Given the description of an element on the screen output the (x, y) to click on. 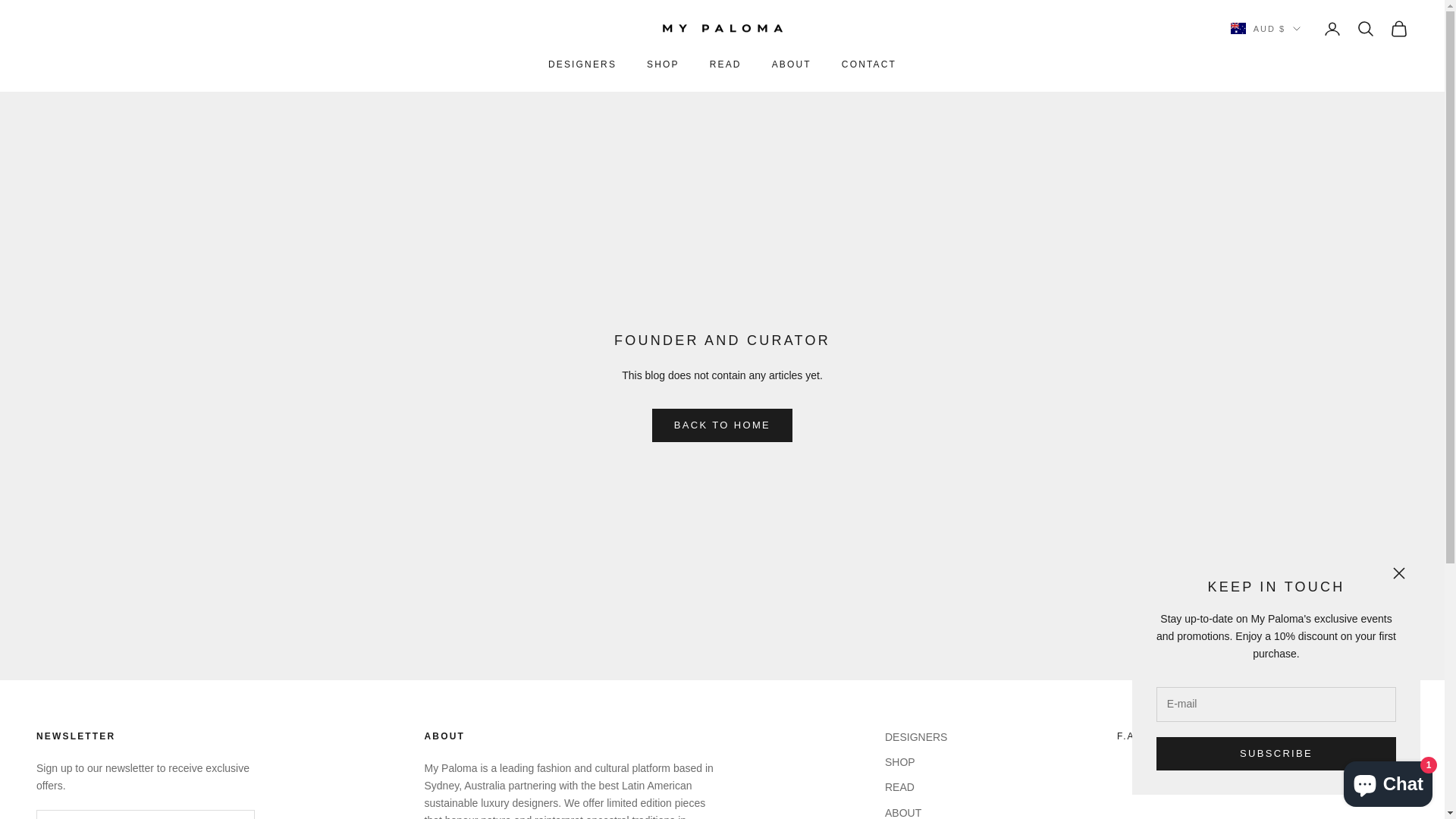
BACK TO HOME Element type: text (722, 425)
DESIGNERS Element type: text (915, 737)
Close Element type: text (1399, 573)
My Paloma Element type: text (721, 28)
Open search Element type: text (1365, 28)
SHOP Element type: text (899, 762)
Open cart Element type: text (1399, 28)
CONTACT Element type: text (868, 64)
READ Element type: text (899, 787)
F.A.Q Element type: text (1132, 736)
SUBSCRIBE Element type: text (1276, 753)
Open account page Element type: text (1332, 28)
ABOUT Element type: text (791, 64)
Shopify online store chat Element type: hover (1388, 780)
AUD $ Element type: text (1265, 28)
